Given the description of an element on the screen output the (x, y) to click on. 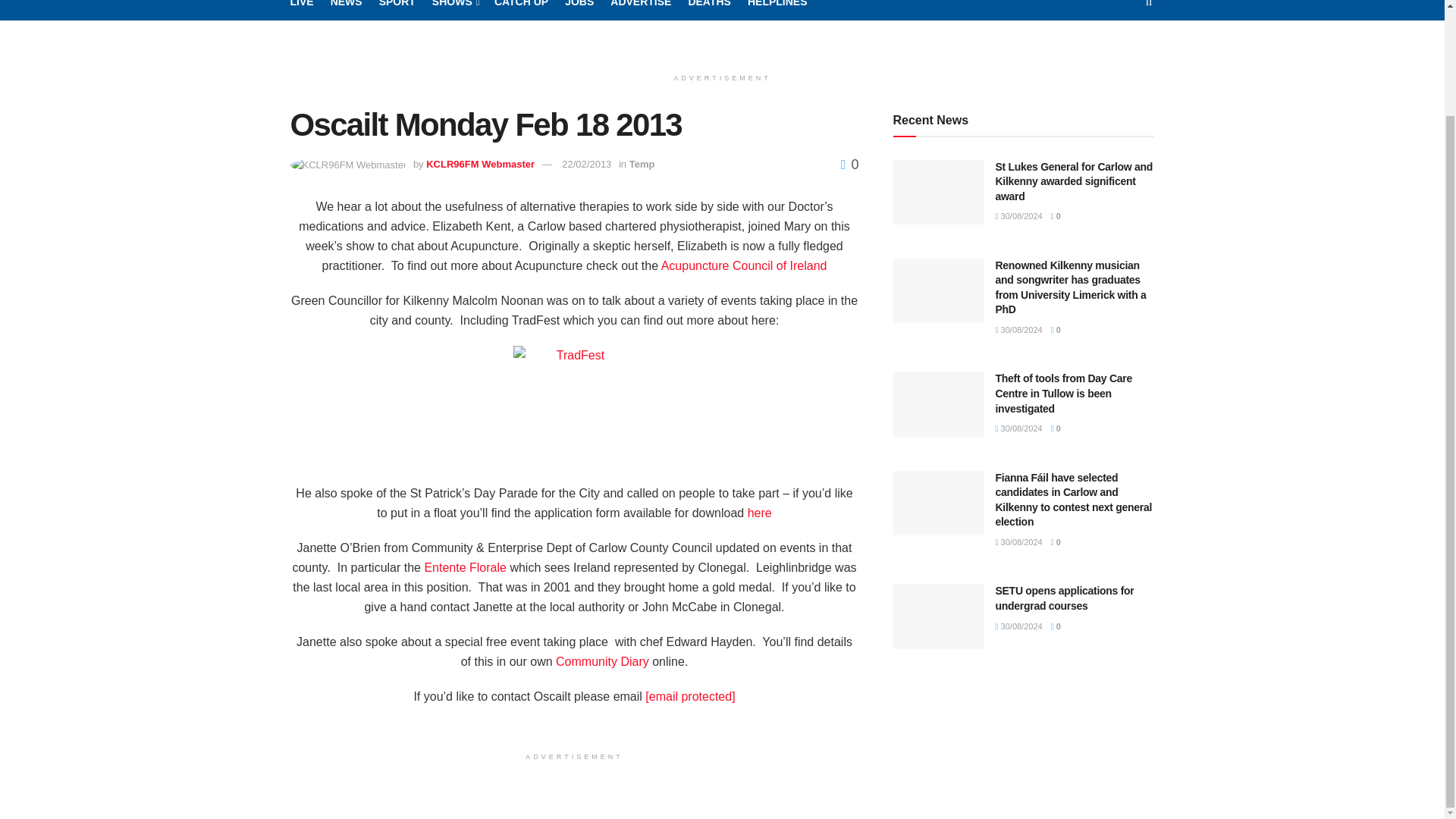
KCLR News for Kilkenny and Carlow (346, 10)
Carlow and Kilkenny Death Notices (708, 10)
NEWS (346, 10)
SHOWS (454, 10)
HELPLINES (778, 10)
CATCH UP (521, 10)
LIVE (301, 10)
SPORT (396, 10)
ADVERTISE (640, 10)
JOBS (579, 10)
